Given the description of an element on the screen output the (x, y) to click on. 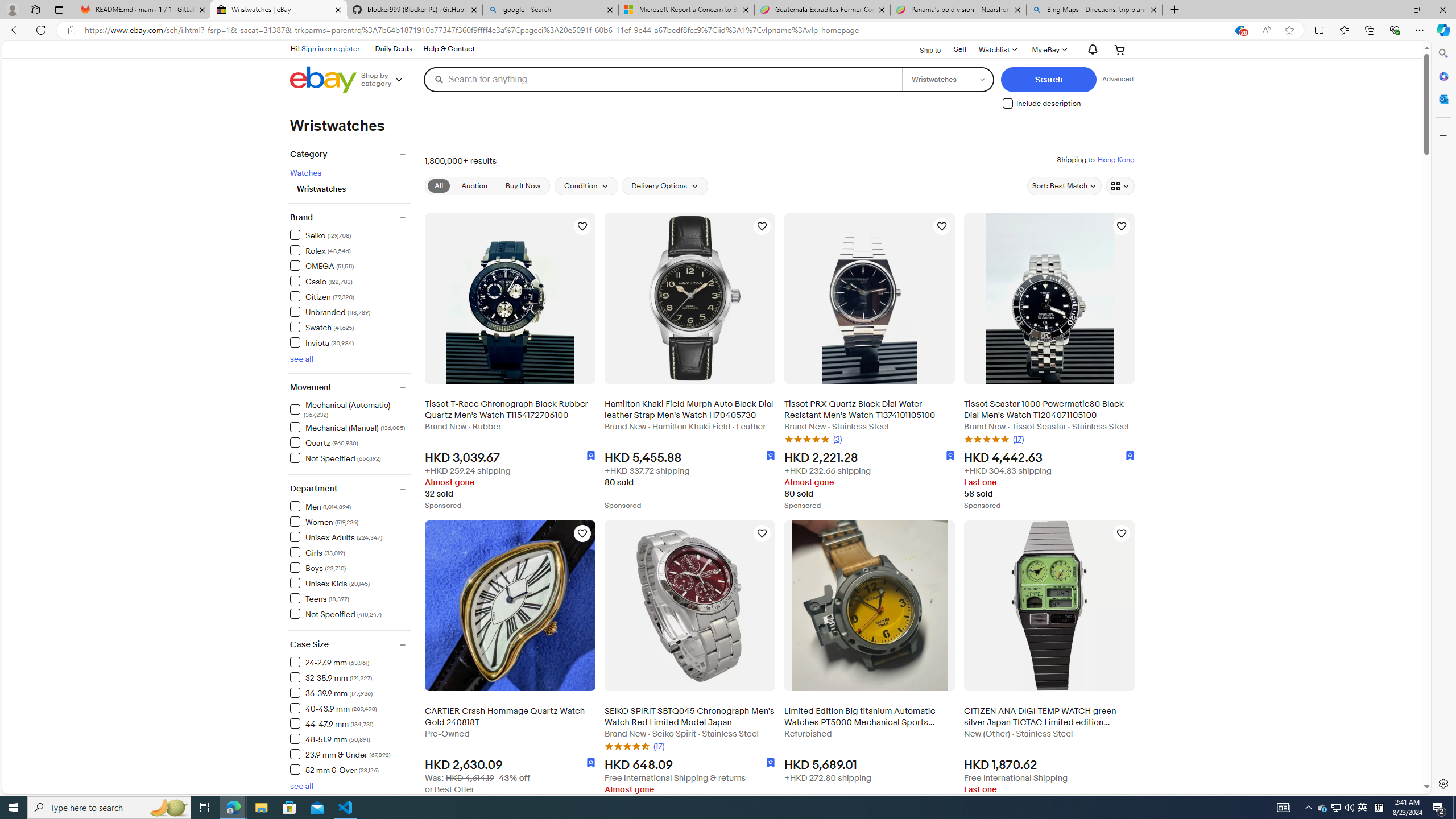
Not Specified (656,192) Items (335, 457)
Watchlist (997, 49)
Sort selector. Best Match selected. (1064, 185)
Expand Cart (1120, 49)
Boys (23,710) Items (317, 567)
Case Size (349, 644)
24-27.9 mm (63,961) Items (329, 661)
WatchlistExpand Watch List (997, 49)
Rolex(48,546) Items (349, 249)
40-43.9 mm(289,498) Items (349, 707)
